Given the description of an element on the screen output the (x, y) to click on. 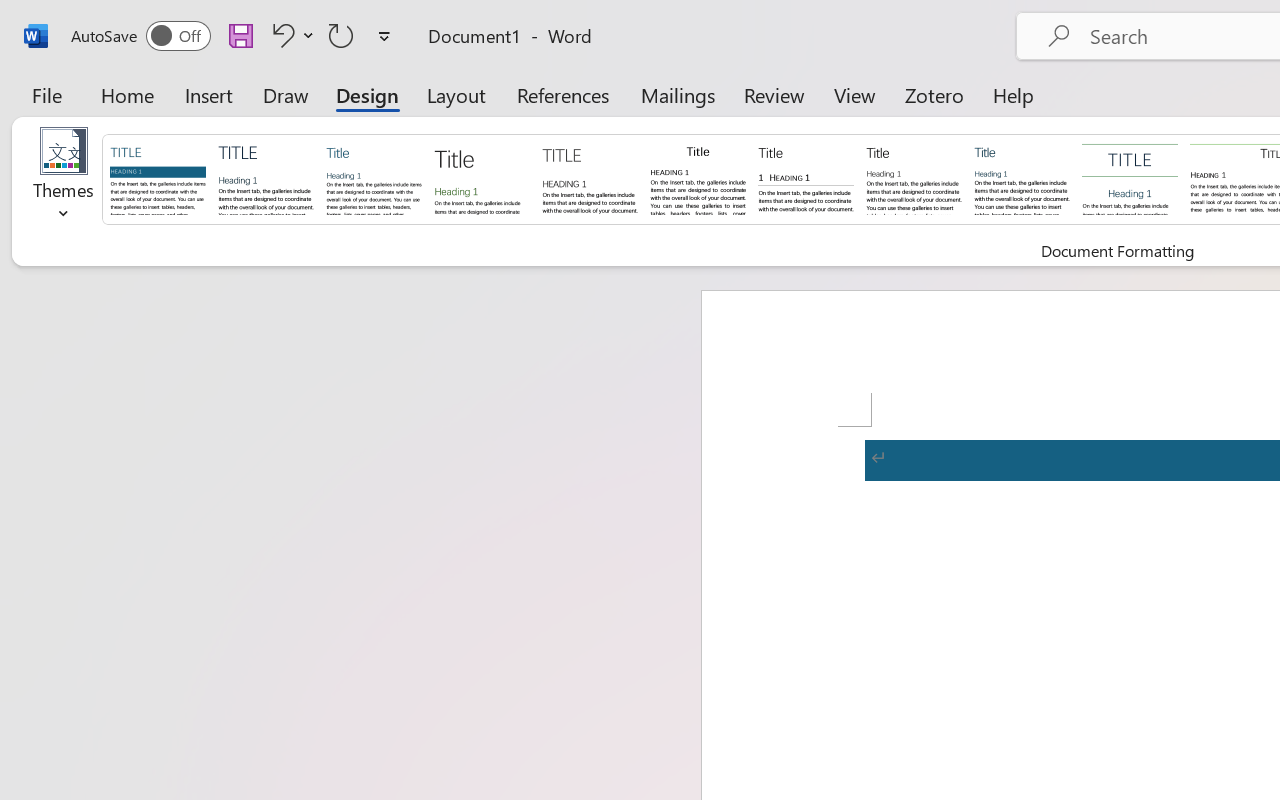
Undo Apply Quick Style Set (280, 35)
Repeat Style (341, 35)
